Given the description of an element on the screen output the (x, y) to click on. 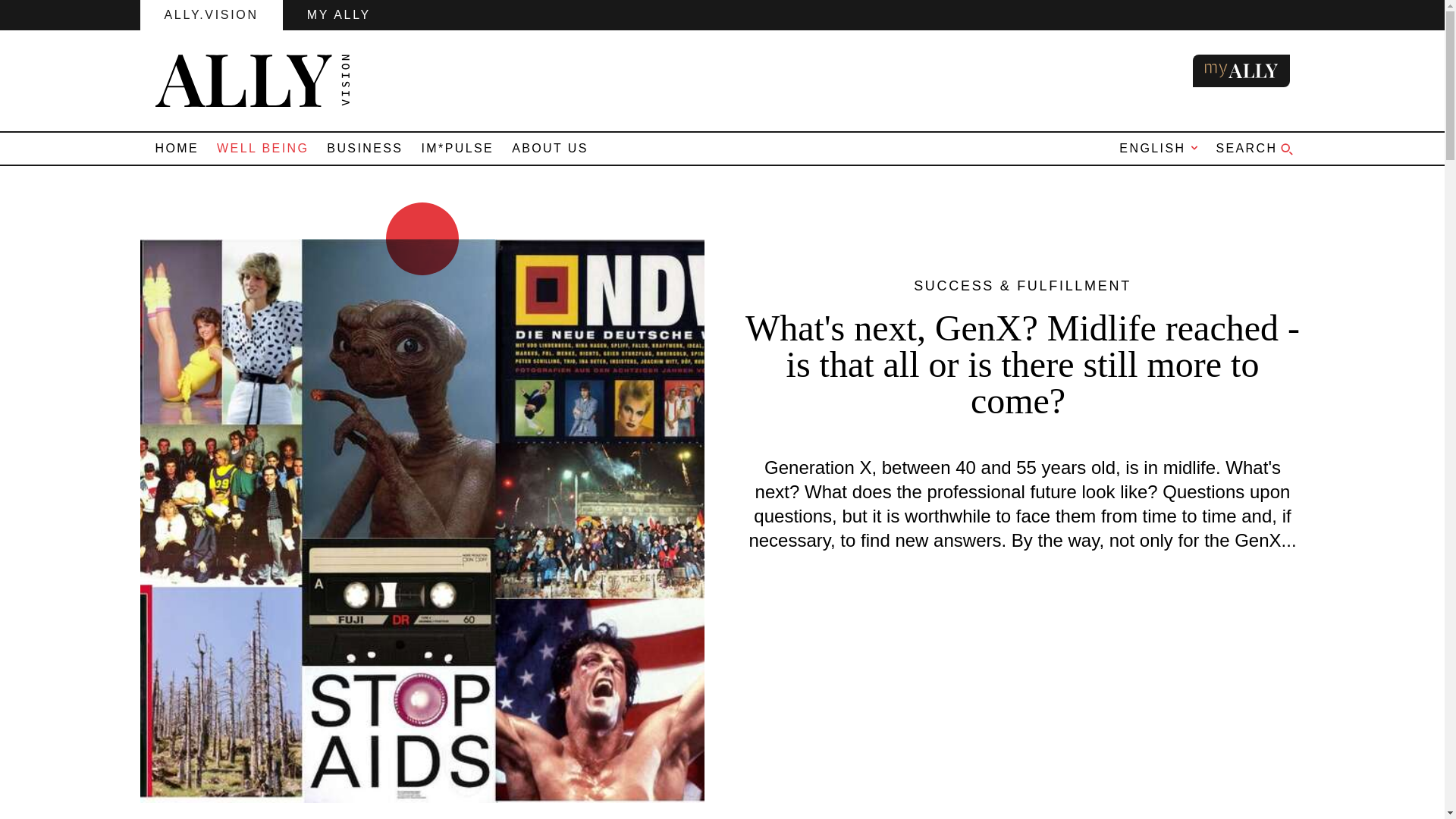
WELL BEING (262, 148)
ABOUT US (549, 148)
MY ALLY (338, 15)
BUSINESS (364, 148)
ALLY.VISION (210, 15)
ENGLISH (1151, 148)
HOME (176, 148)
